Given the description of an element on the screen output the (x, y) to click on. 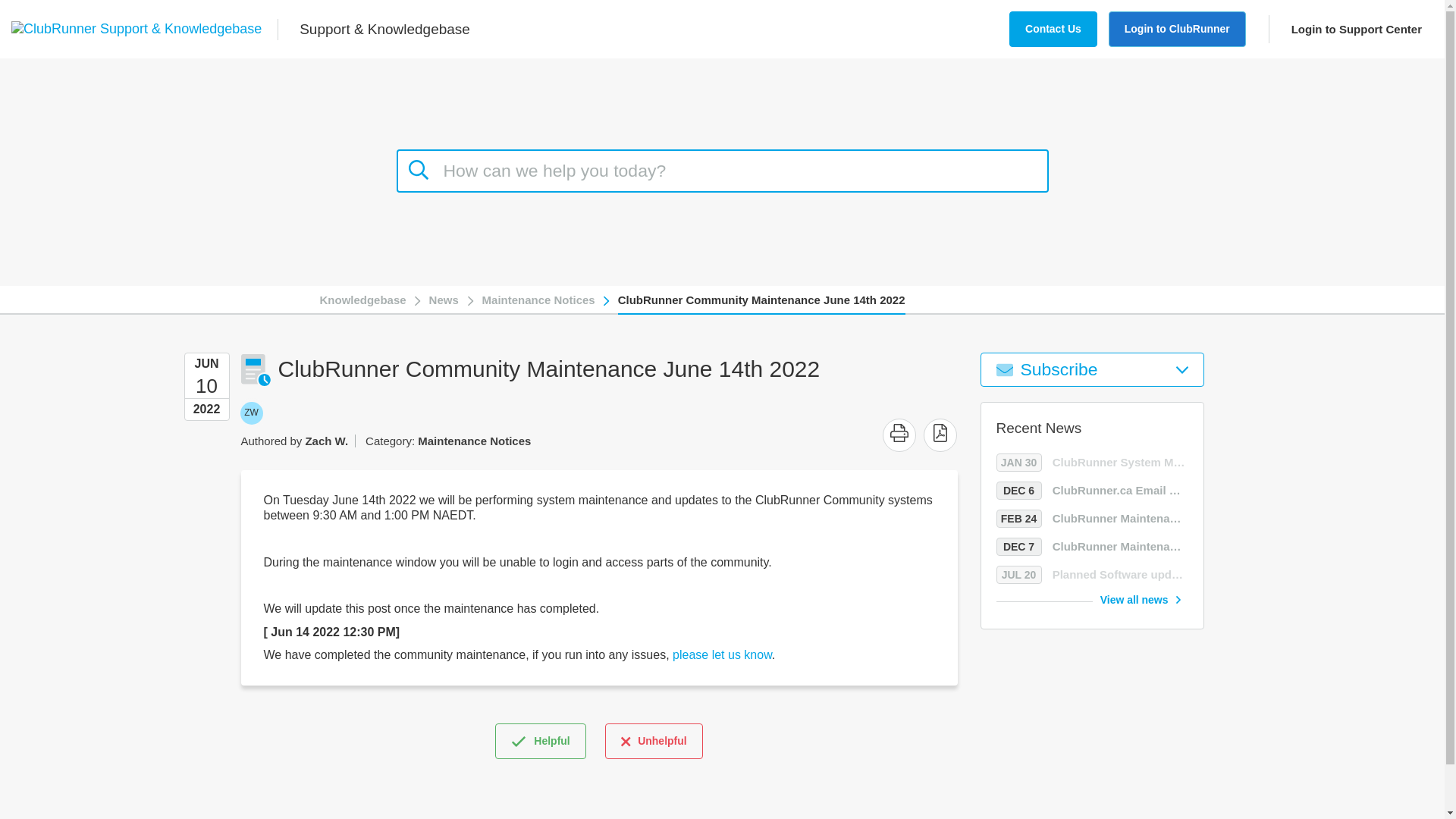
Print (250, 412)
Knowledgebase (898, 433)
DEC 6 ClubRunner.ca Email Migration (363, 299)
Helpful (1092, 490)
Zach W. (540, 740)
Subscribe (250, 412)
ClubRunner Community Maintenance June 14th 2022 (1091, 369)
View all news (761, 299)
Print (1140, 599)
please let us know (898, 435)
Unhelpful (721, 654)
Login to Support Center (654, 740)
Login to ClubRunner (1350, 29)
